Given the description of an element on the screen output the (x, y) to click on. 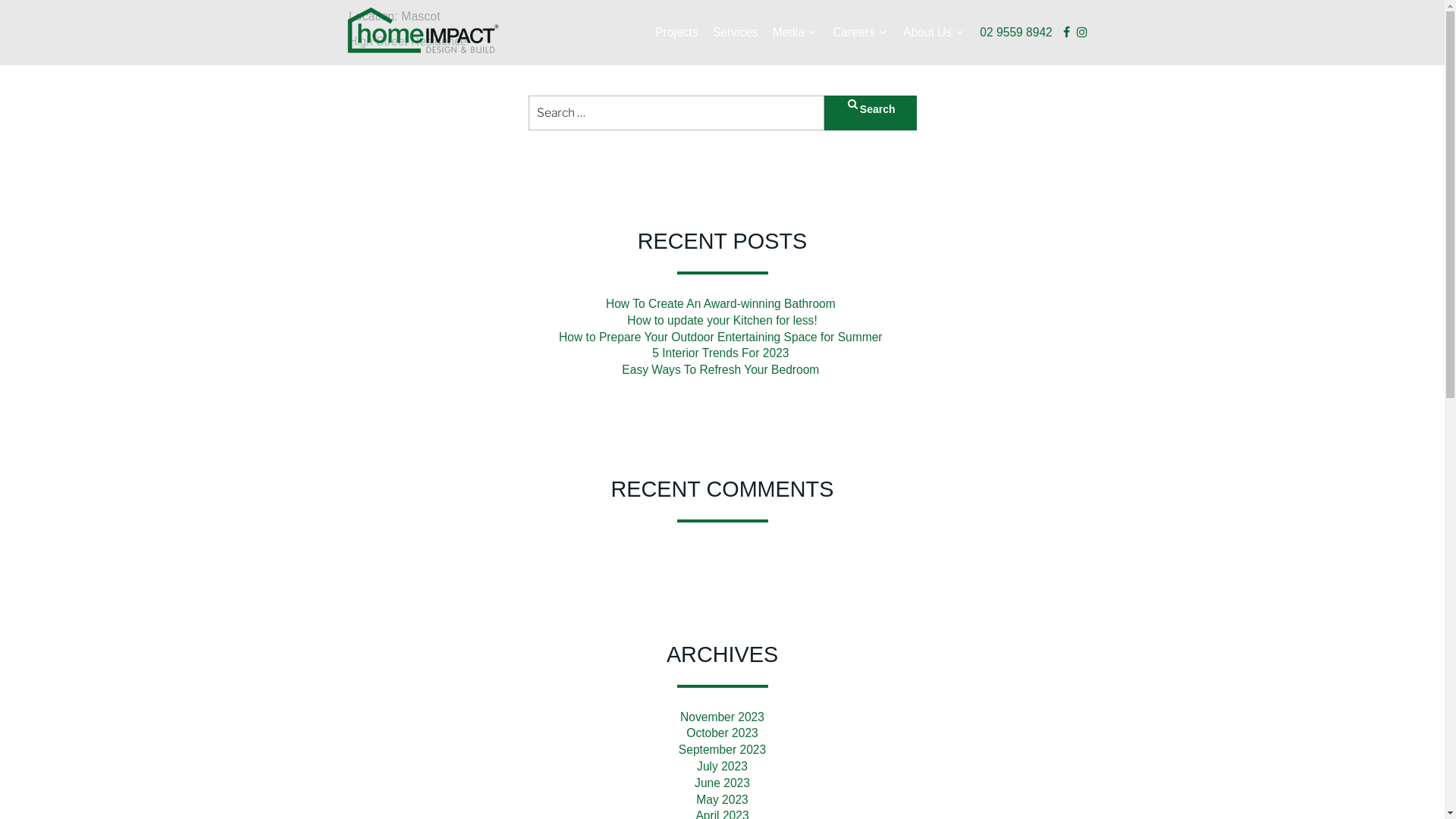
Projects Element type: text (676, 32)
How to update your Kitchen for less! Element type: text (722, 319)
July 2023 Element type: text (721, 765)
How To Create An Award-winning Bathroom  Element type: text (721, 303)
May 2023 Element type: text (721, 799)
High Street Residence Element type: text (407, 40)
DOWNLOAD NOW Element type: text (727, 624)
November 2023 Element type: text (722, 716)
October 2023 Element type: text (722, 732)
About Us Element type: text (934, 32)
5 Interior Trends For 2023  Element type: text (722, 352)
September 2023 Element type: text (721, 749)
Easy Ways To Refresh Your Bedroom  Element type: text (721, 369)
Media Element type: text (795, 32)
Careers Element type: text (860, 32)
How to Prepare Your Outdoor Entertaining Space for Summer  Element type: text (721, 336)
June 2023 Element type: text (721, 782)
Services Element type: text (735, 32)
Search Element type: text (870, 112)
02 9559 8942 Element type: text (1015, 32)
